Given the description of an element on the screen output the (x, y) to click on. 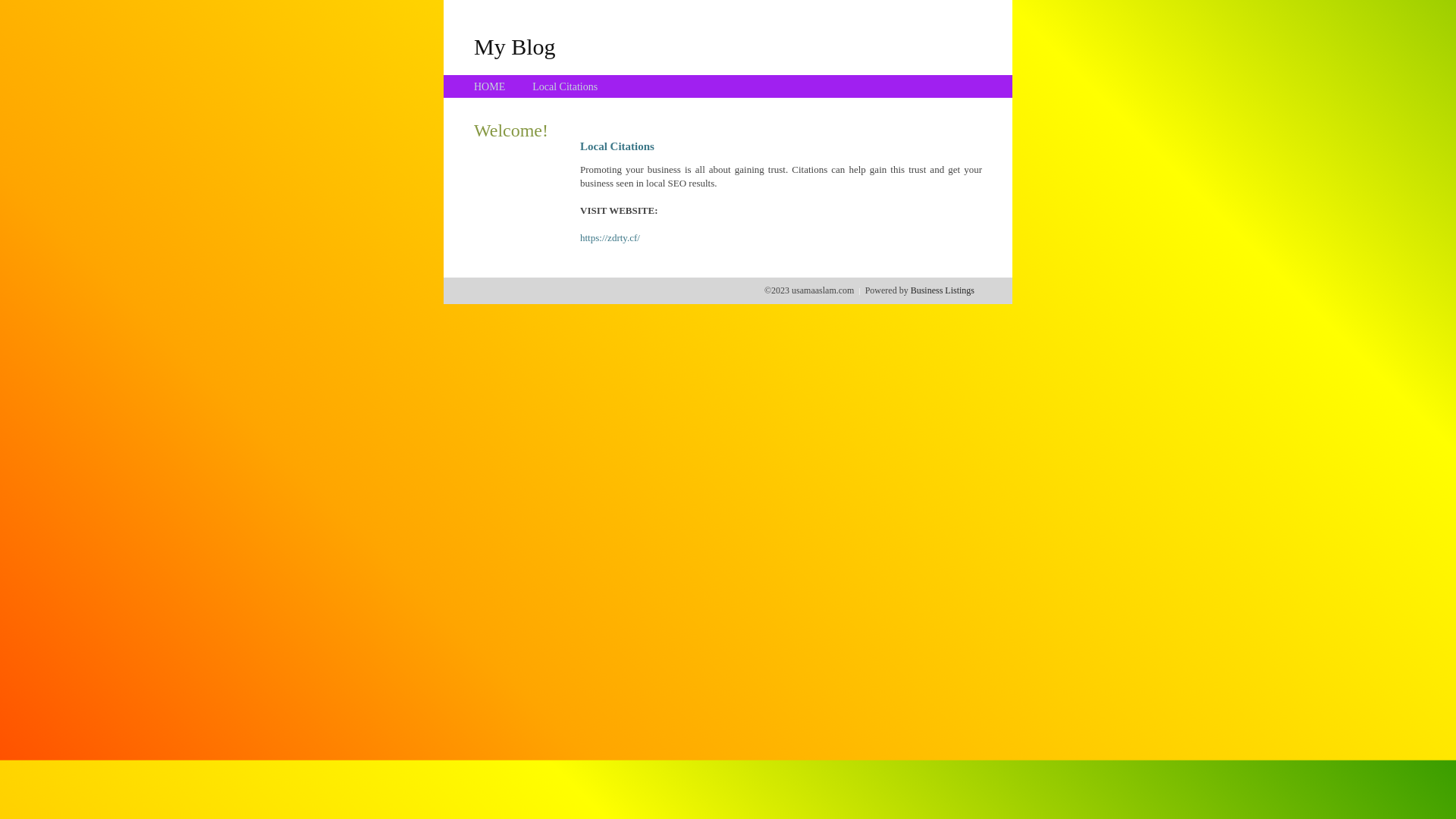
https://zdrty.cf/ Element type: text (610, 237)
Business Listings Element type: text (942, 290)
Local Citations Element type: text (564, 86)
My Blog Element type: text (514, 46)
HOME Element type: text (489, 86)
